Given the description of an element on the screen output the (x, y) to click on. 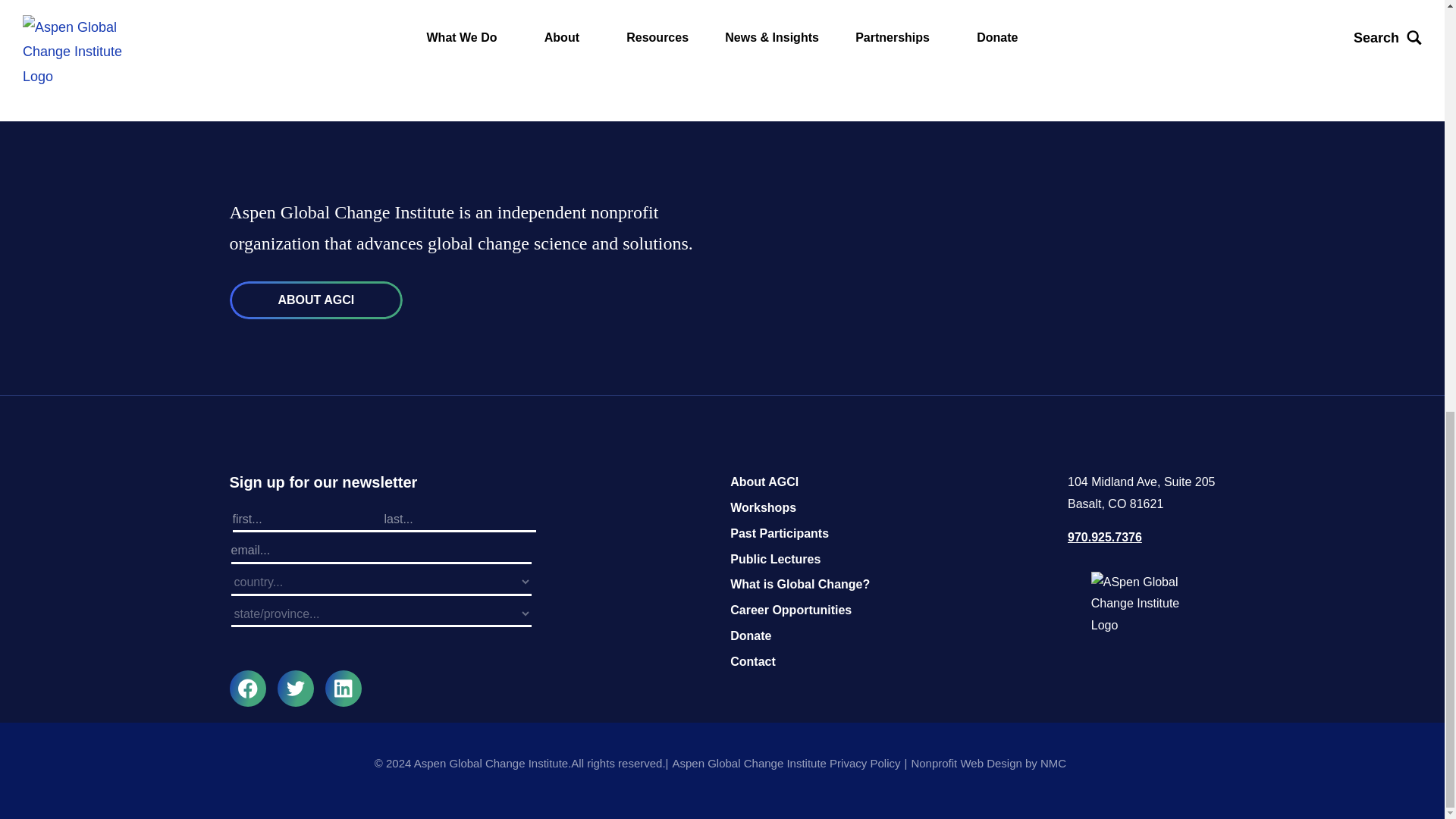
Ken Caldeira's webpage (504, 62)
Submit (380, 652)
ABOUT AGCI (315, 300)
